Given the description of an element on the screen output the (x, y) to click on. 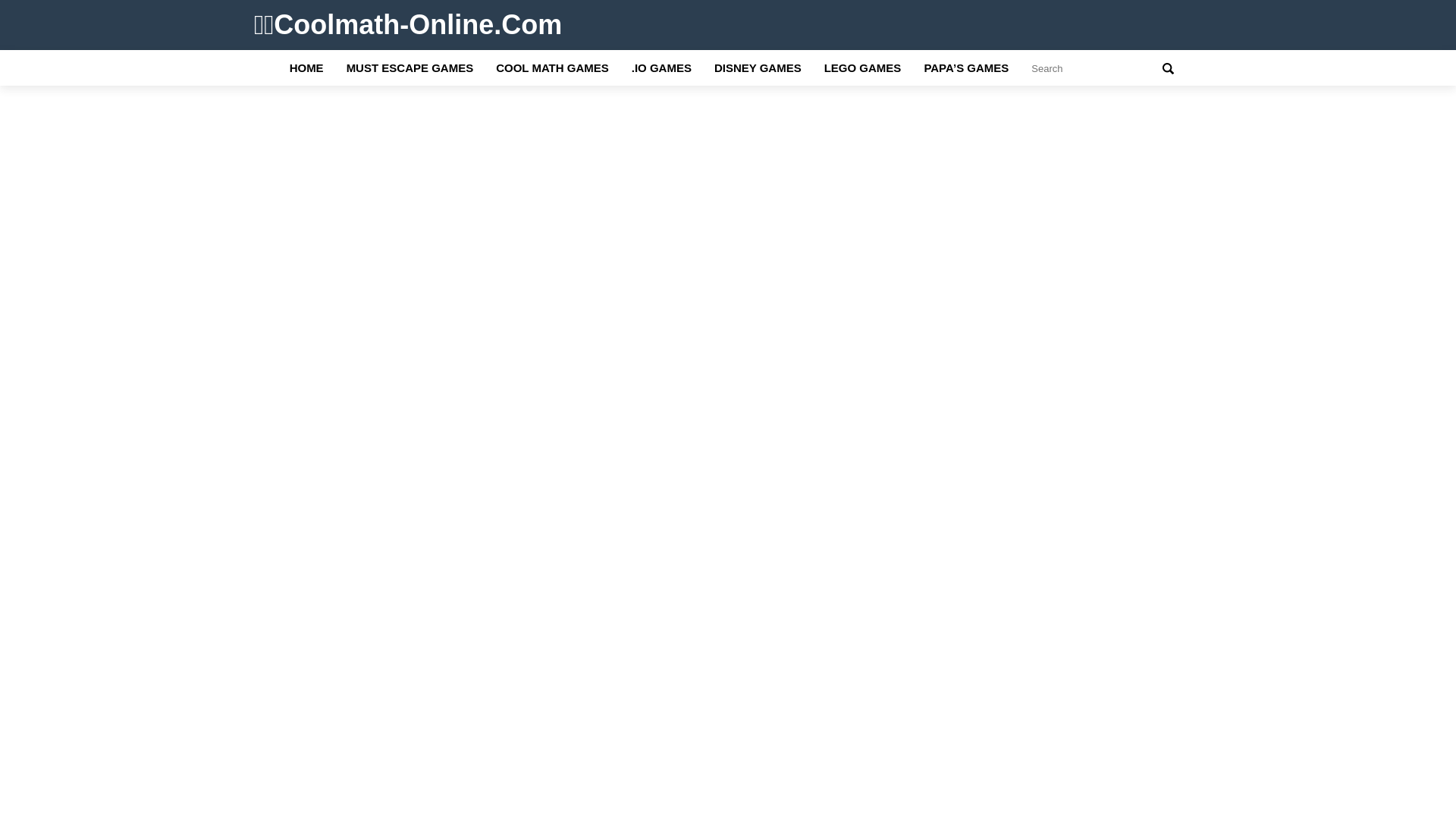
.IO GAMES (661, 67)
Coolmath-Online.Com (407, 24)
Cool Math Games Online (407, 24)
Coolmath Online (306, 67)
Cool Math Games (552, 67)
COOL MATH GAMES (552, 67)
HOME (306, 67)
MUST ESCAPE GAMES (409, 67)
LEGO GAMES (862, 67)
Disney Games (757, 67)
